Given the description of an element on the screen output the (x, y) to click on. 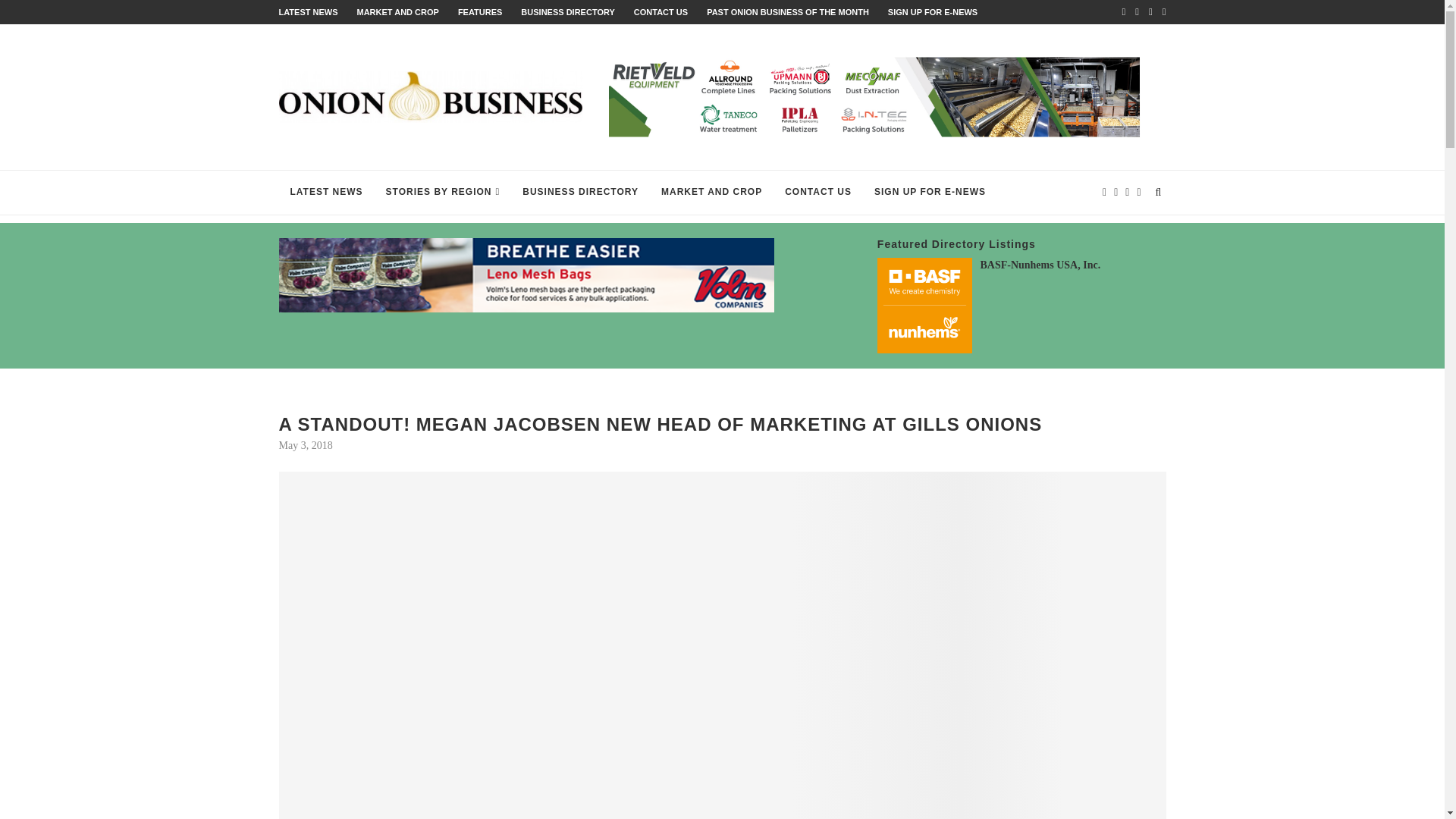
FEATURES (480, 11)
SIGN UP FOR E-NEWS (932, 11)
CONTACT US (660, 11)
LATEST NEWS (308, 11)
PAST ONION BUSINESS OF THE MONTH (787, 11)
BUSINESS DIRECTORY (567, 11)
MARKET AND CROP (397, 11)
